Given the description of an element on the screen output the (x, y) to click on. 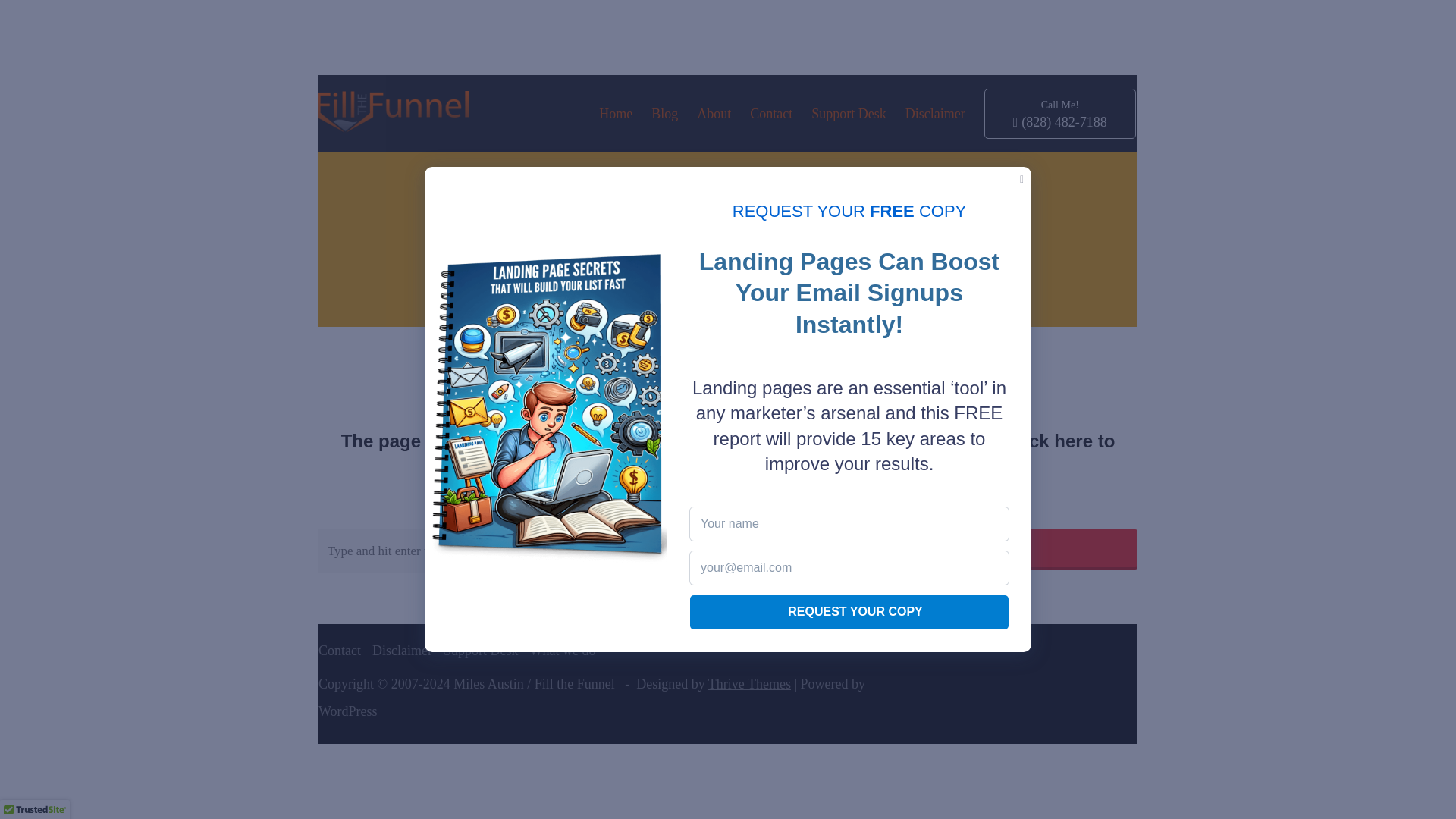
Support Desk (481, 650)
Contact (339, 650)
What we do (562, 650)
WordPress (347, 711)
About (713, 114)
REQUEST YOUR COPY (849, 612)
Disclaimer (935, 114)
Search (1013, 548)
Search (1013, 548)
Contact (770, 114)
click here (1051, 440)
Blog (664, 114)
Disclaimer (402, 650)
Home (614, 114)
Support Desk (848, 114)
